Given the description of an element on the screen output the (x, y) to click on. 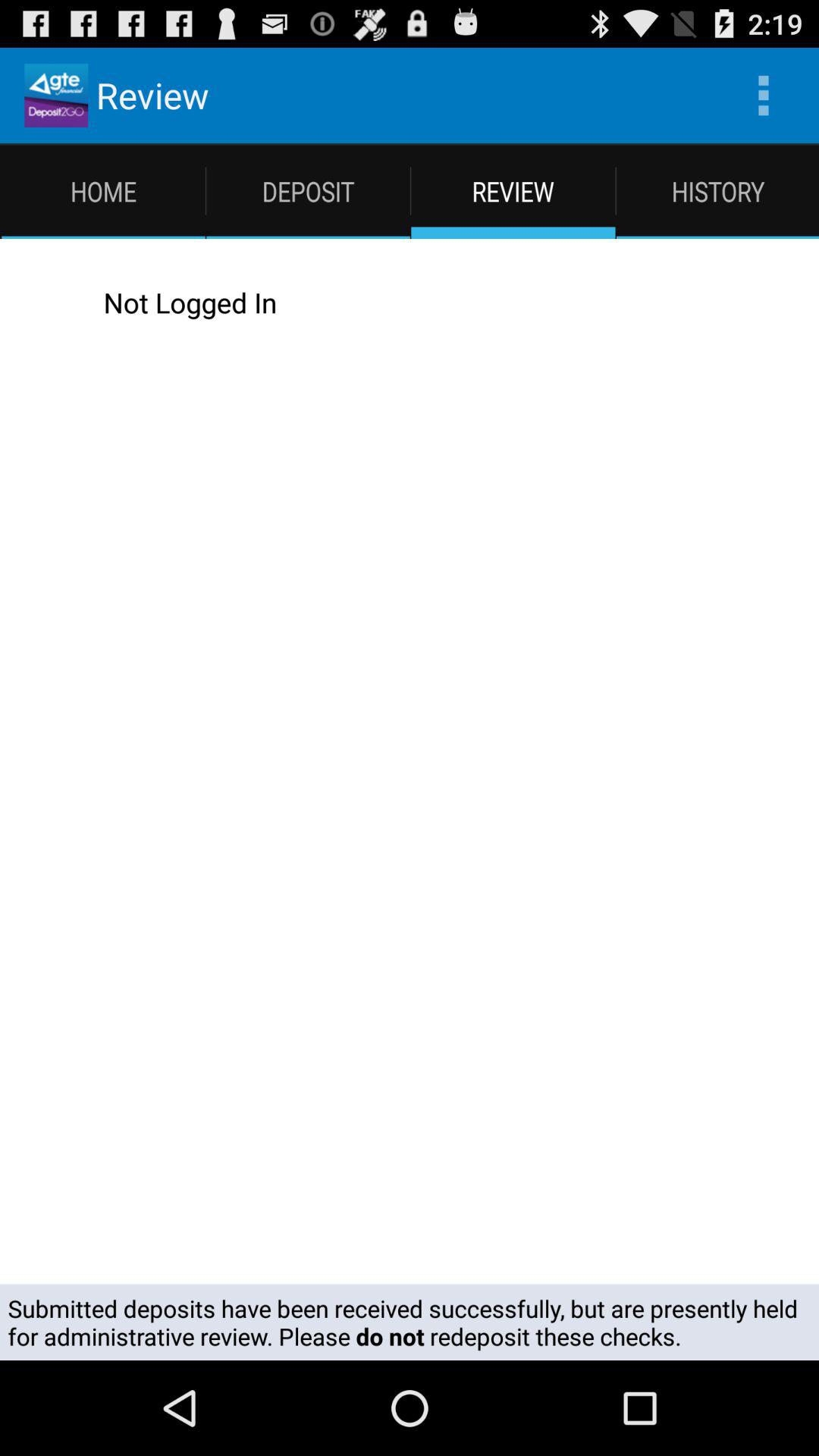
tap the icon to the right of the review (763, 95)
